Given the description of an element on the screen output the (x, y) to click on. 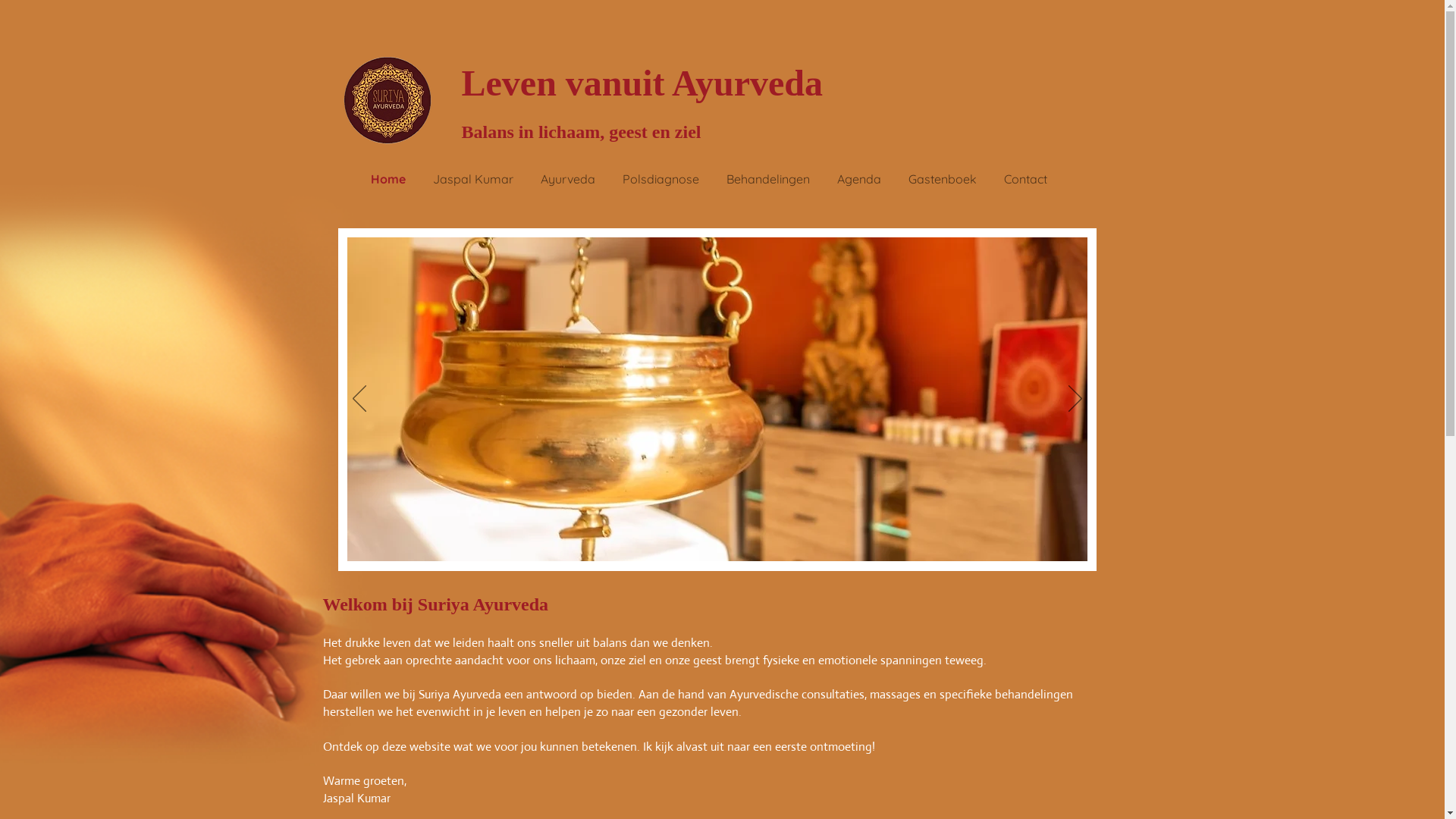
Jaspal Kumar Element type: text (473, 178)
Gastenboek Element type: text (942, 178)
Behandelingen Element type: text (767, 178)
Polsdiagnose Element type: text (660, 178)
Home Element type: text (387, 178)
Contact Element type: text (1025, 178)
Ayurveda Element type: text (567, 178)
Agenda Element type: text (858, 178)
